Given the description of an element on the screen output the (x, y) to click on. 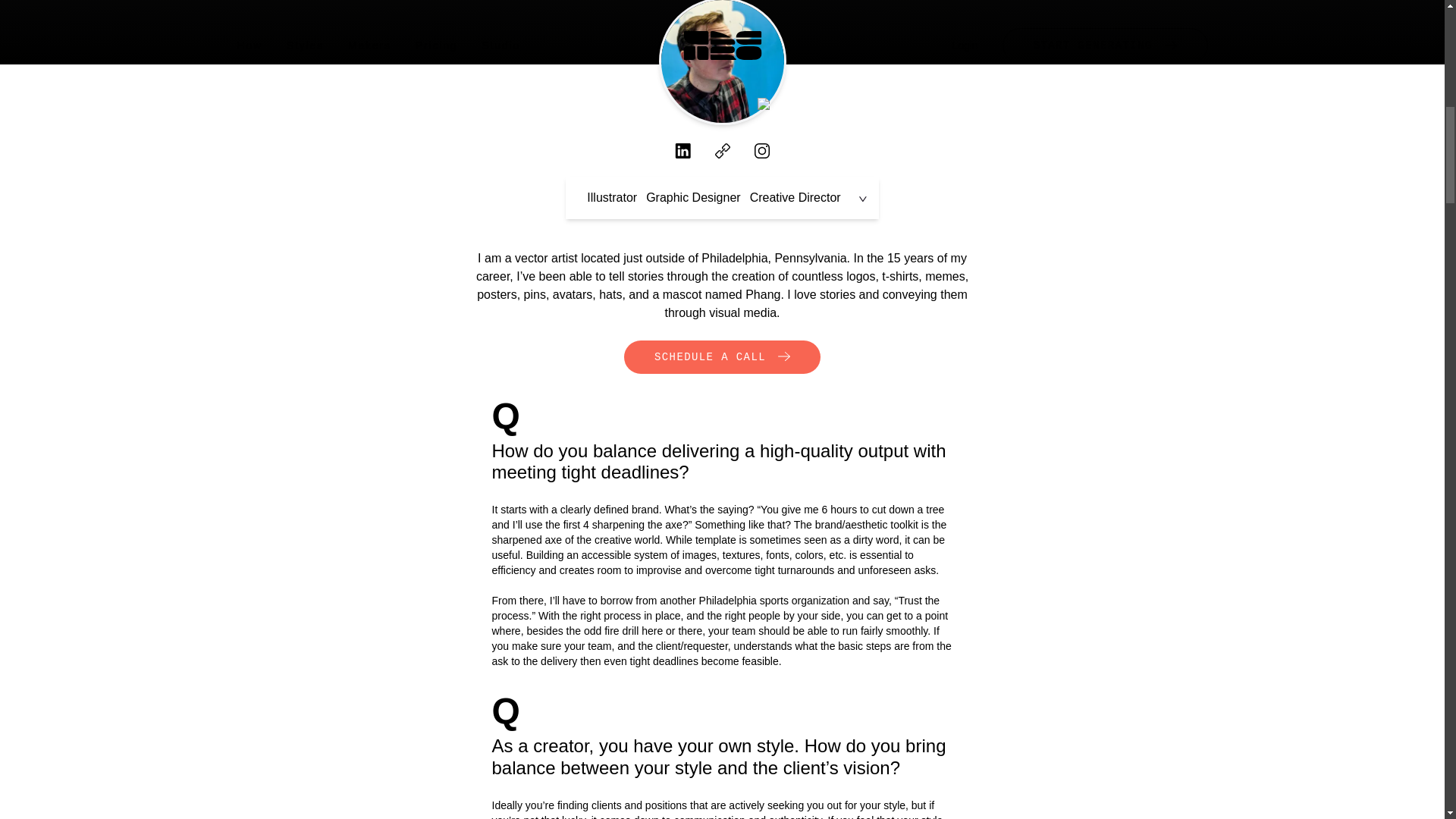
SCHEDULE A CALL (722, 356)
country-flag-US (767, 104)
